Given the description of an element on the screen output the (x, y) to click on. 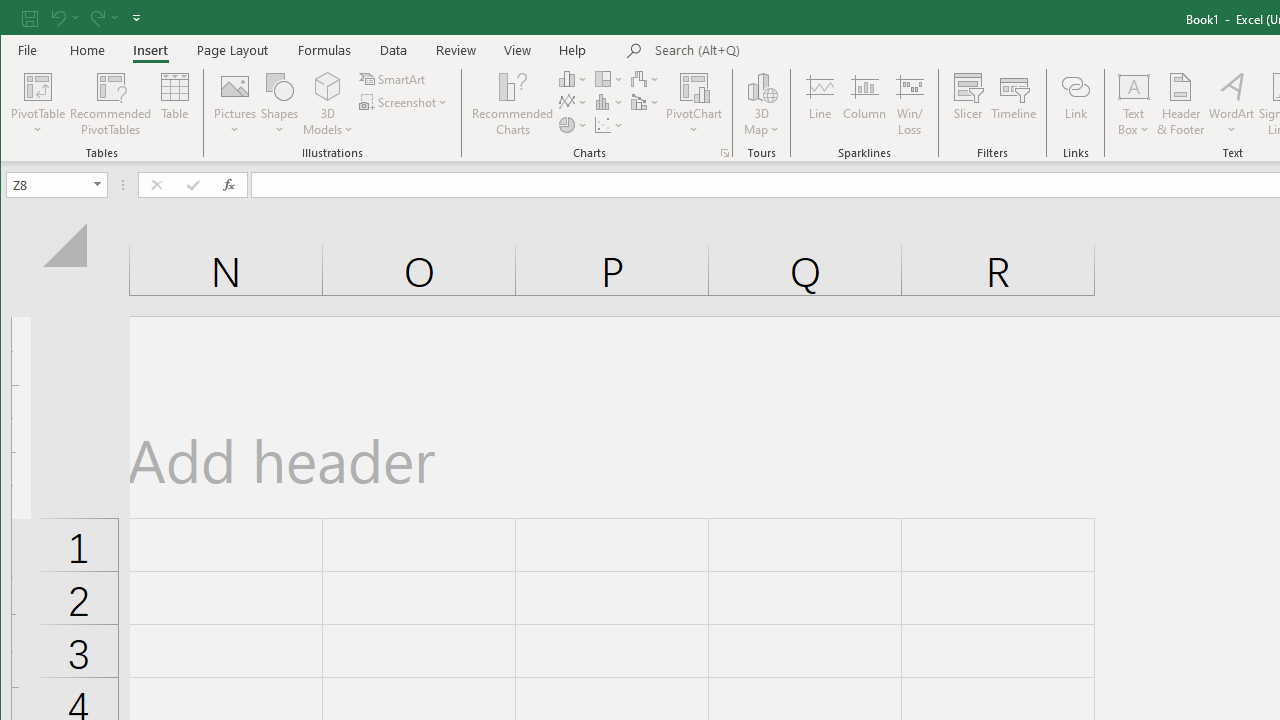
Screenshot (404, 101)
3D Models (327, 86)
Win/Loss (909, 104)
Insert Hierarchy Chart (609, 78)
Recommended PivotTables (110, 104)
Text Box (1133, 104)
Shapes (279, 104)
3D Map (762, 104)
